Given the description of an element on the screen output the (x, y) to click on. 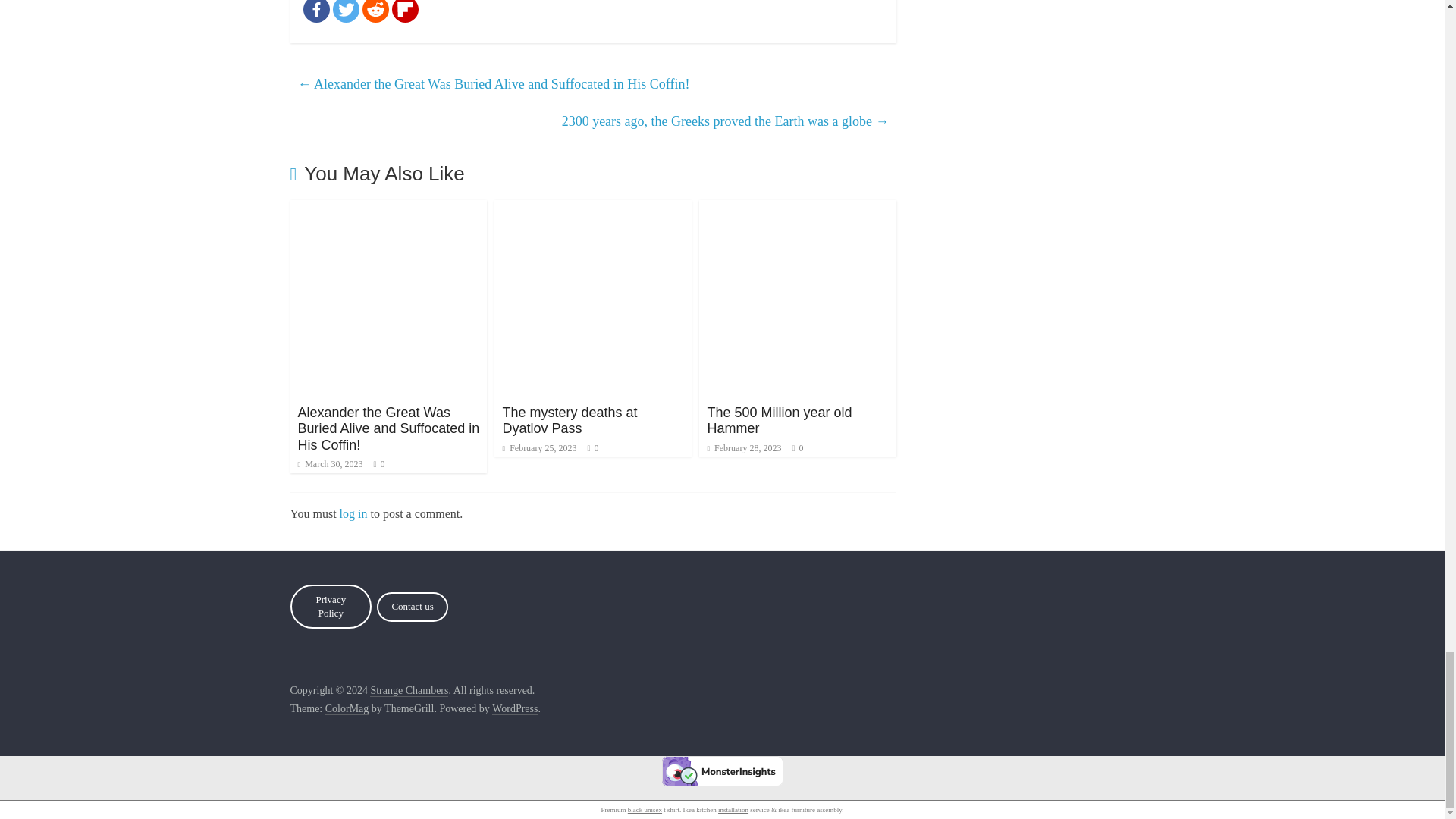
March 30, 2023 (329, 463)
Twitter (344, 11)
Facebook (316, 11)
The 500 Million year old Hammer (778, 420)
February 25, 2023 (539, 448)
February 28, 2023 (743, 448)
The mystery deaths at Dyatlov Pass (569, 420)
